Given the description of an element on the screen output the (x, y) to click on. 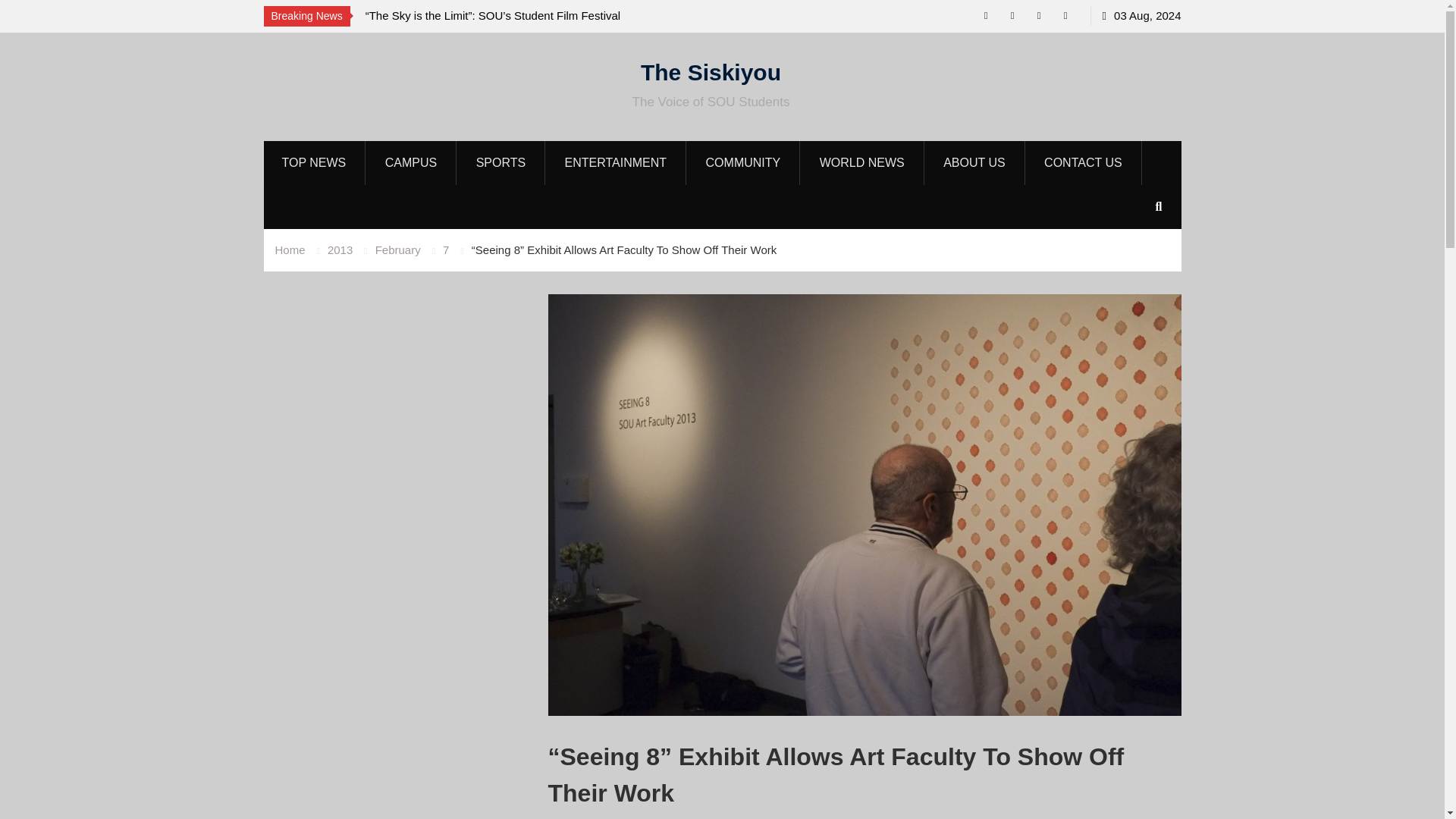
YouTube (1039, 15)
SPORTS (501, 162)
TOP NEWS (314, 162)
ABOUT US (974, 162)
2013 (339, 249)
COMMUNITY (743, 162)
CONTACT US (1083, 162)
Facebook (1065, 15)
The Siskiyou (710, 71)
WORLD NEWS (862, 162)
Home (289, 249)
ENTERTAINMENT (616, 162)
Instagram (1012, 15)
CAMPUS (411, 162)
February (397, 249)
